Given the description of an element on the screen output the (x, y) to click on. 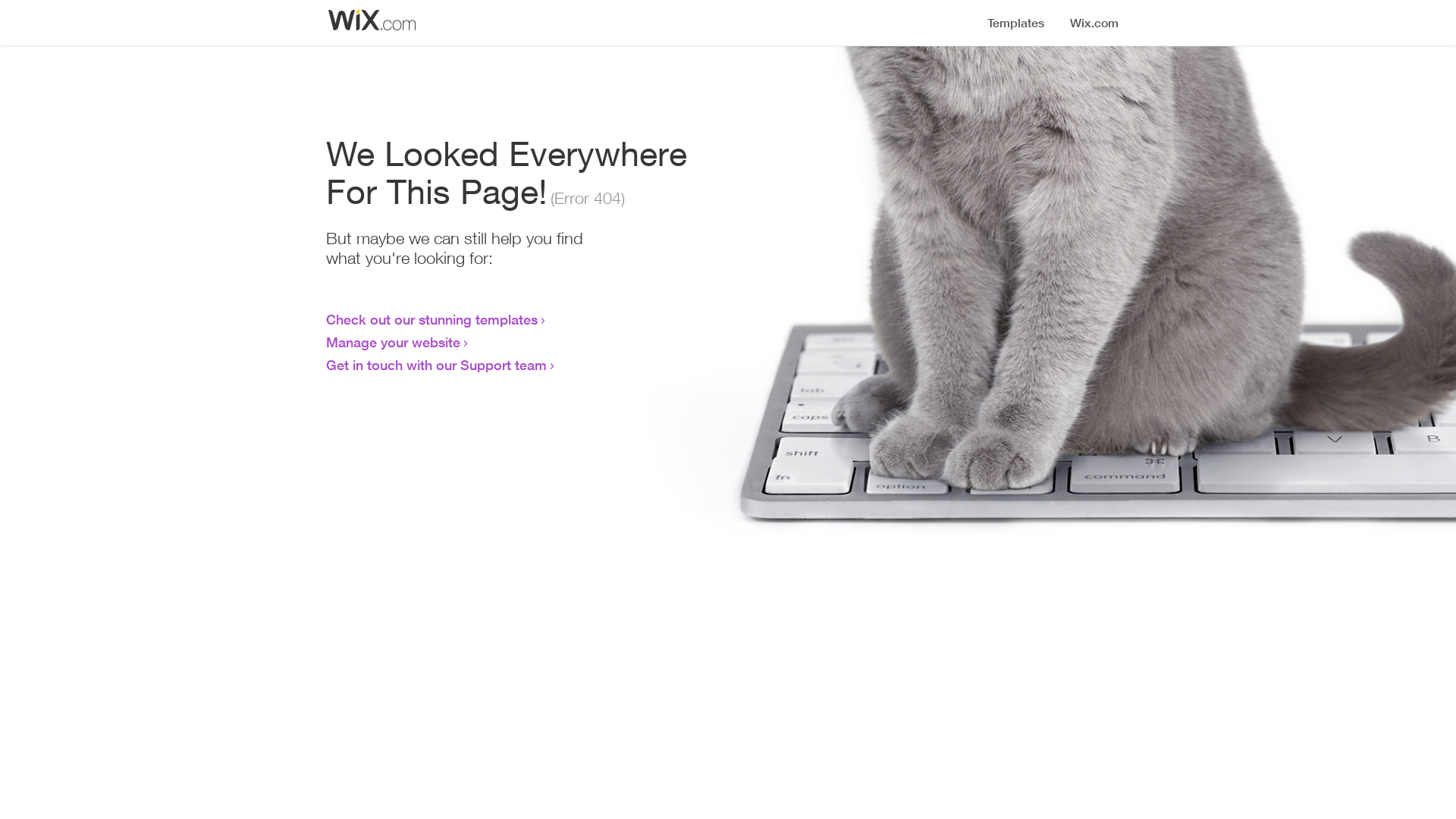
Check out our stunning templates Element type: text (431, 318)
Manage your website Element type: text (393, 341)
Get in touch with our Support team Element type: text (436, 364)
